Given the description of an element on the screen output the (x, y) to click on. 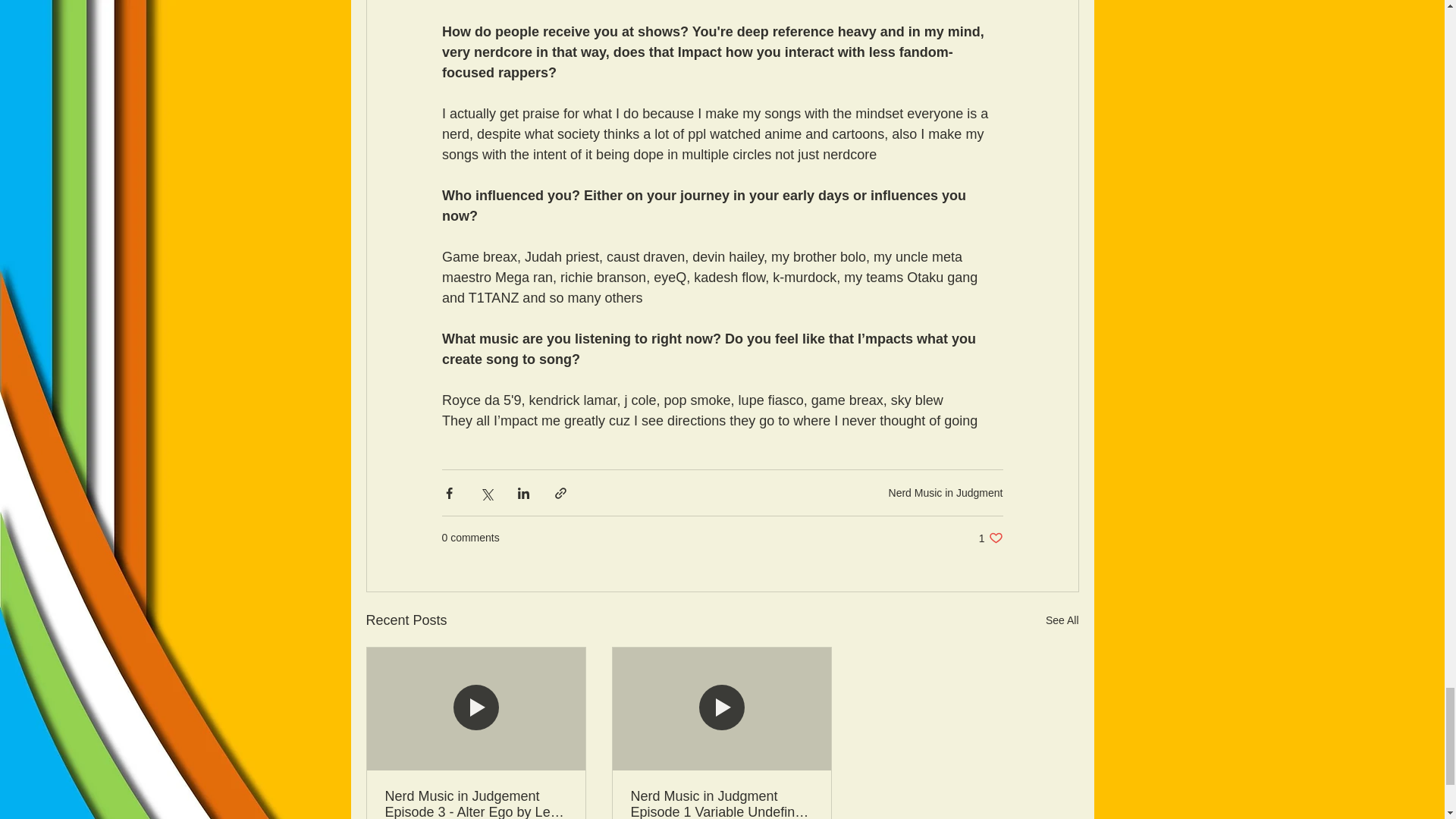
Nerd Music in Judgment (990, 537)
See All (945, 492)
